Given the description of an element on the screen output the (x, y) to click on. 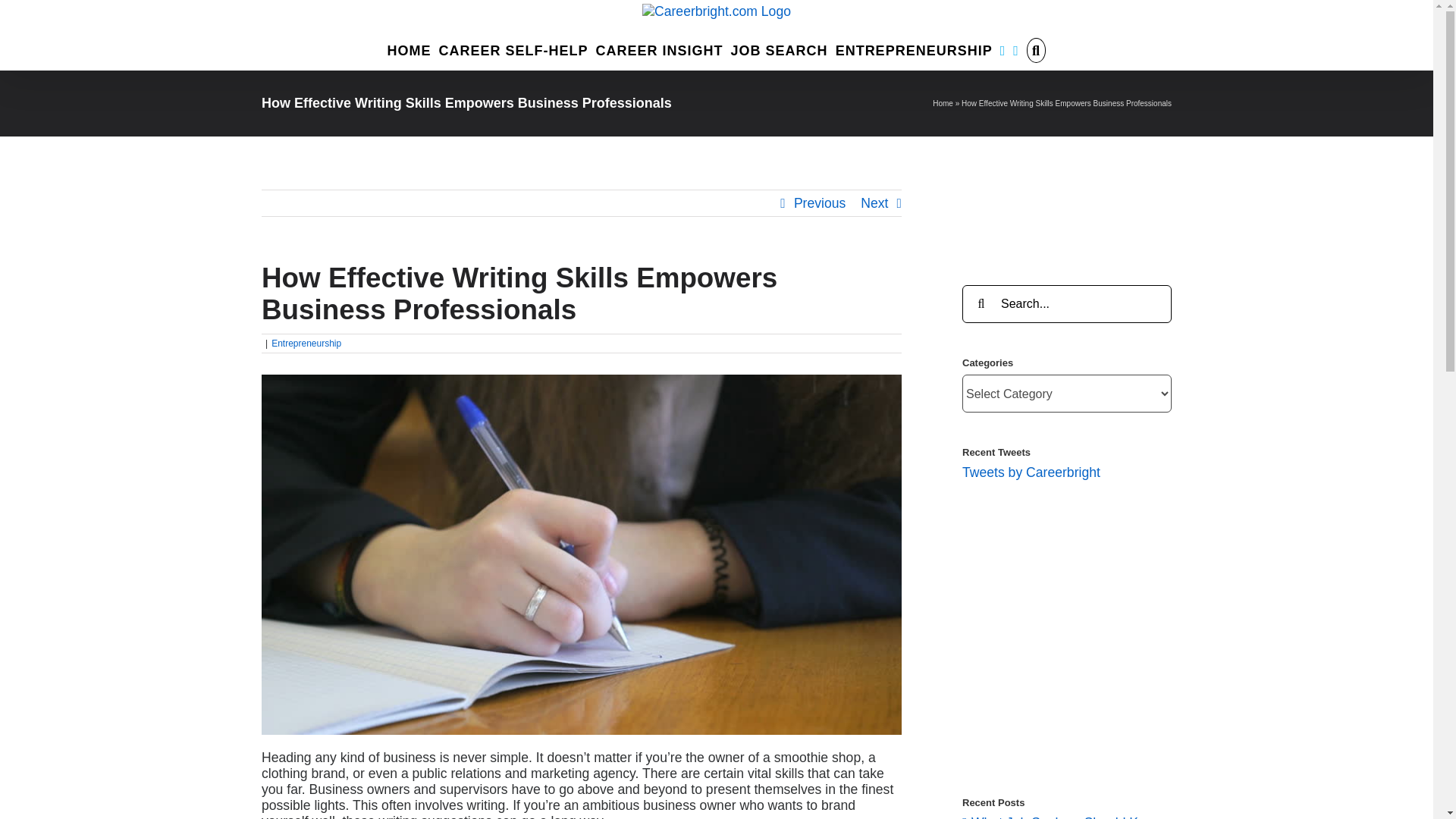
Tweets by Careerbright (1031, 472)
CAREER SELF-HELP (513, 48)
Entrepreneurship (305, 343)
ENTREPRENEURSHIP (913, 48)
JOB SEARCH (779, 48)
CAREER INSIGHT (659, 48)
Next (874, 203)
What Job Seekers Should Know Before Accepting an Offer (1066, 816)
Home (943, 103)
HOME (408, 48)
Previous (819, 203)
